Given the description of an element on the screen output the (x, y) to click on. 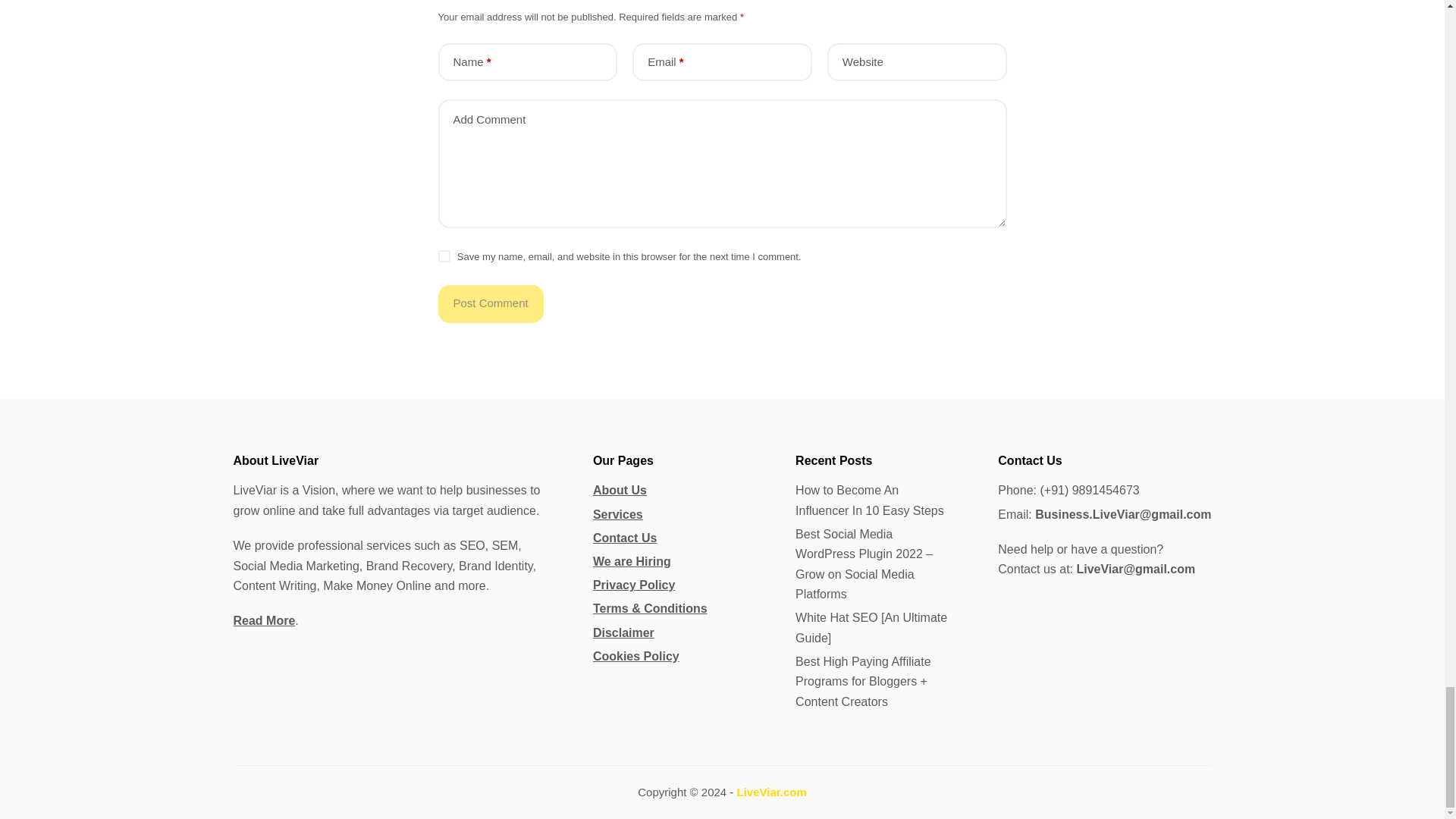
We are Hiring (631, 561)
About Us (619, 490)
Privacy Policy (633, 584)
Services (617, 513)
Read More (263, 620)
Post Comment (490, 303)
yes (443, 256)
Contact Us (624, 537)
Disclaimer (622, 632)
